Given the description of an element on the screen output the (x, y) to click on. 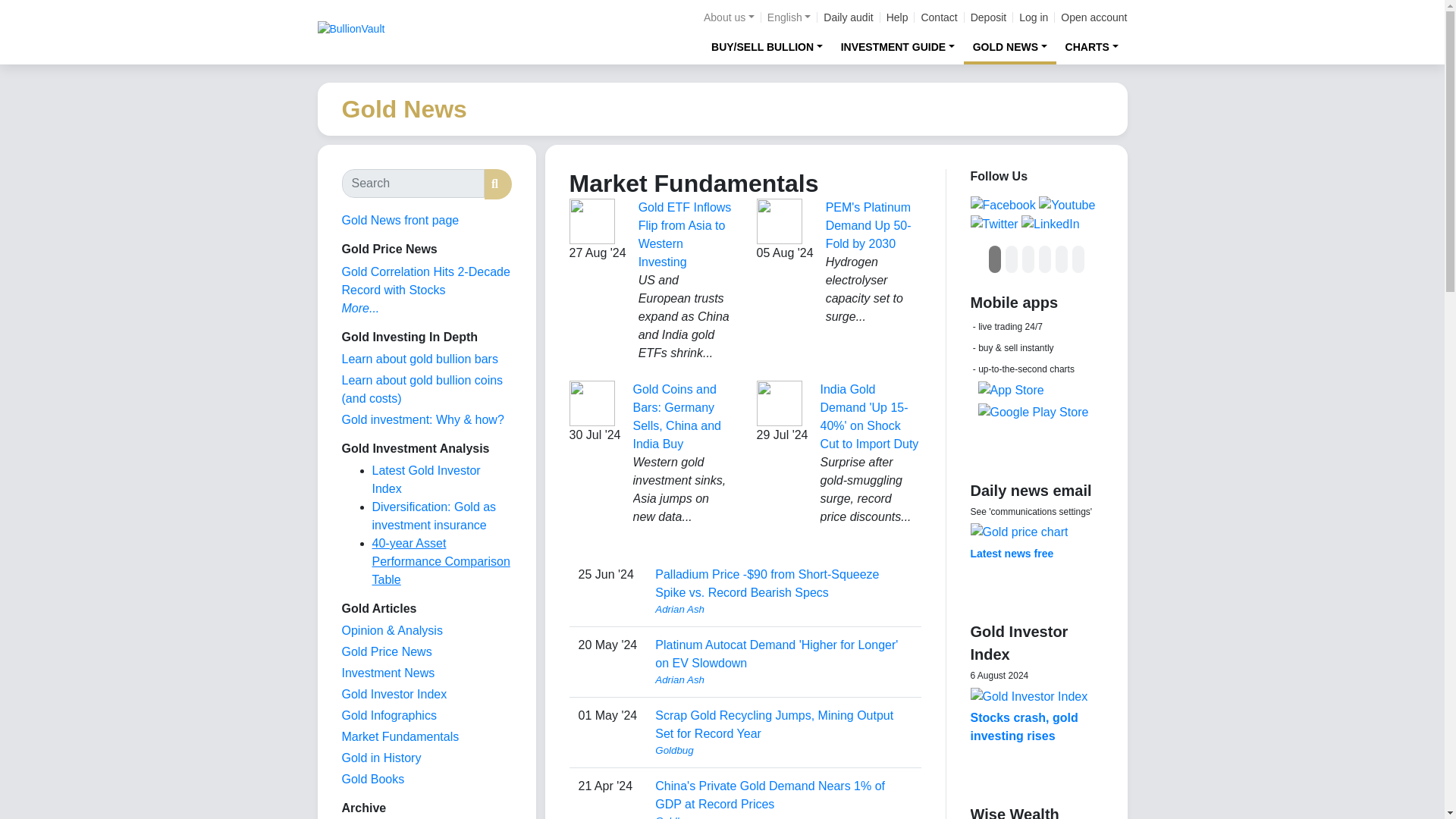
Enter the terms you wish to search for. (411, 183)
Help (897, 17)
Books about Gold Reviewed (372, 779)
View user profile. (783, 816)
Log in (1033, 17)
View user profile. (783, 679)
Gold Infographics (387, 715)
Deposit (988, 17)
Investment News (386, 672)
Gold Price News (385, 651)
